Given the description of an element on the screen output the (x, y) to click on. 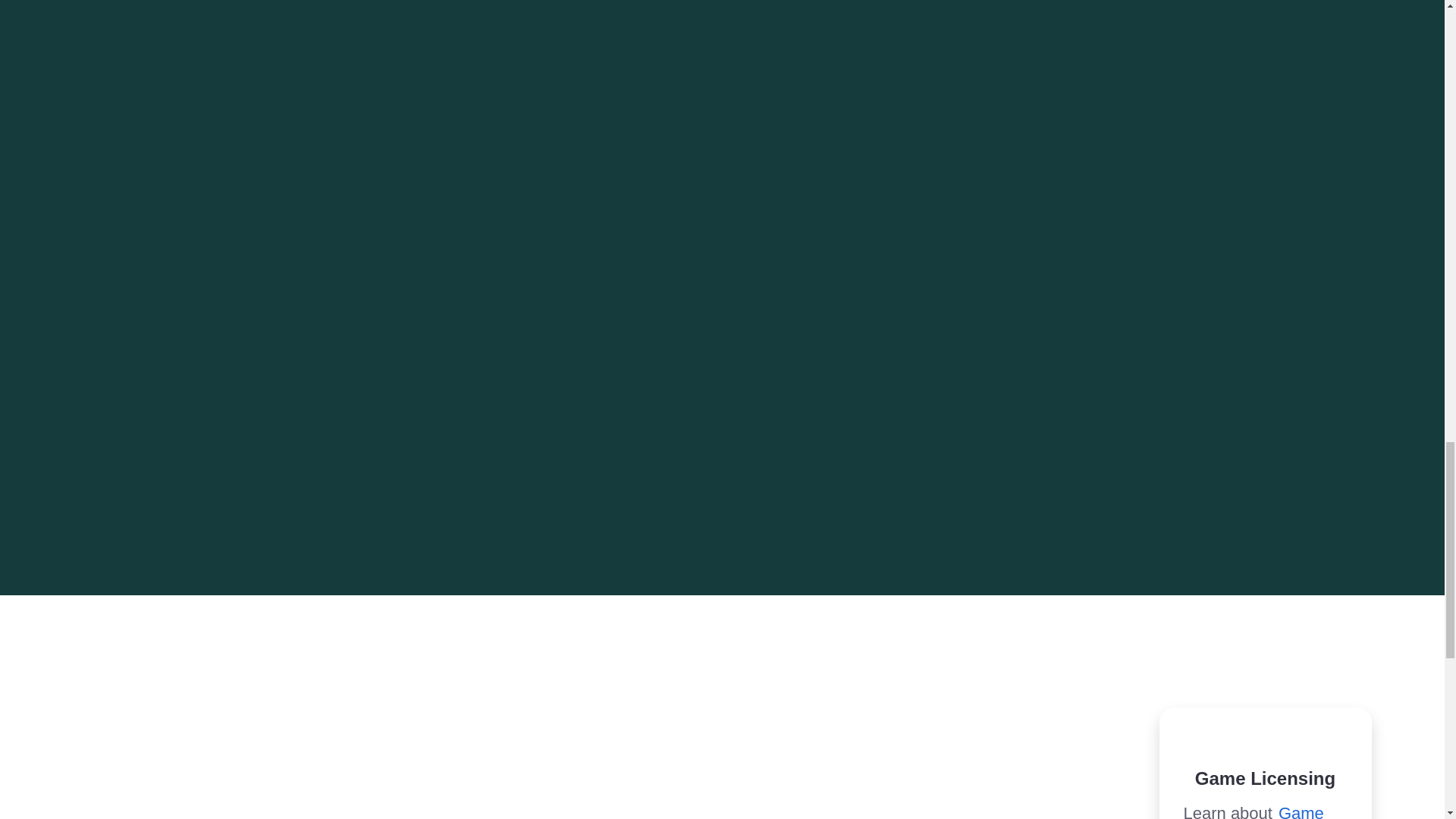
Game Licensing (1252, 811)
